Given the description of an element on the screen output the (x, y) to click on. 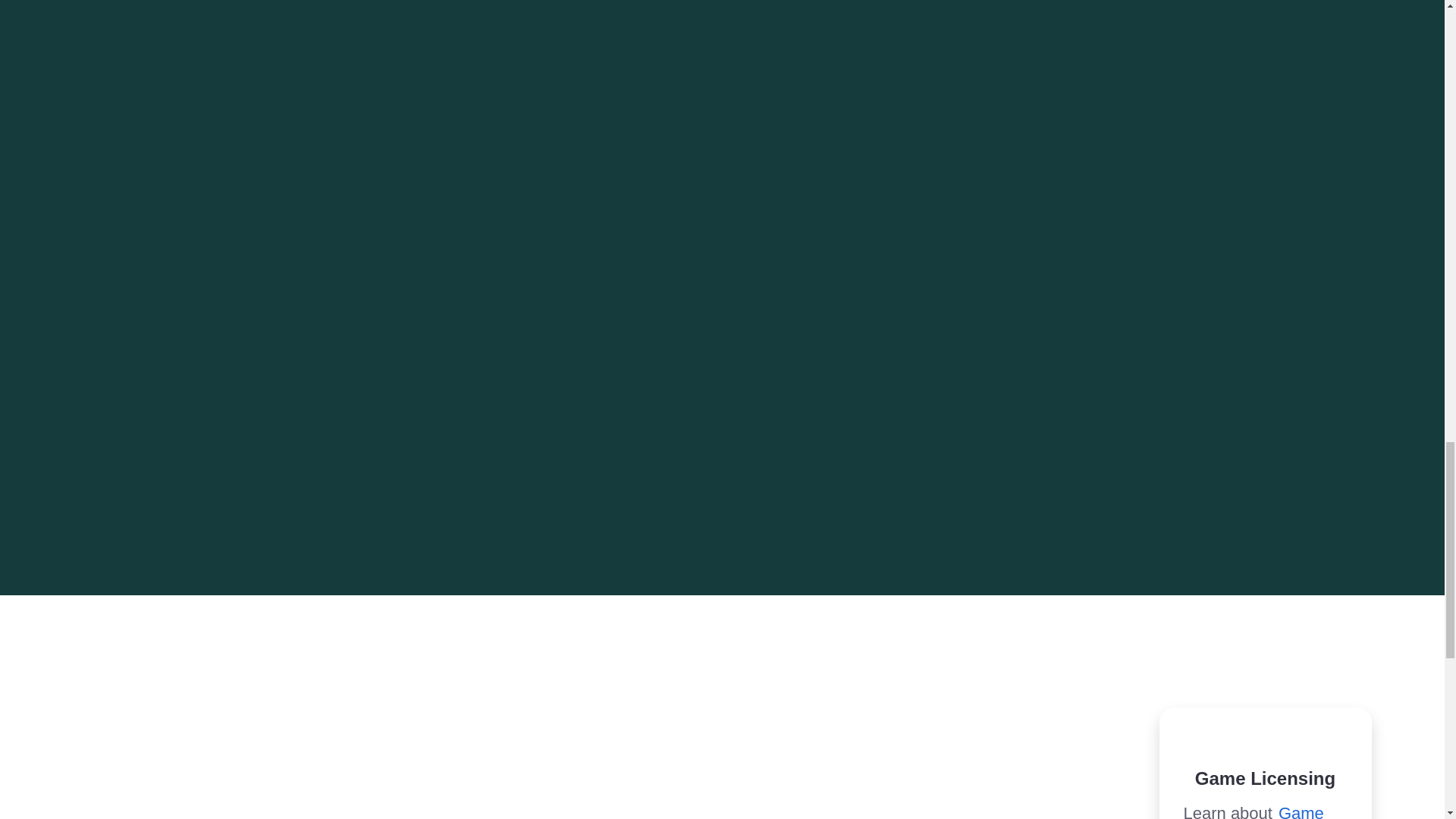
Game Licensing (1252, 811)
